Given the description of an element on the screen output the (x, y) to click on. 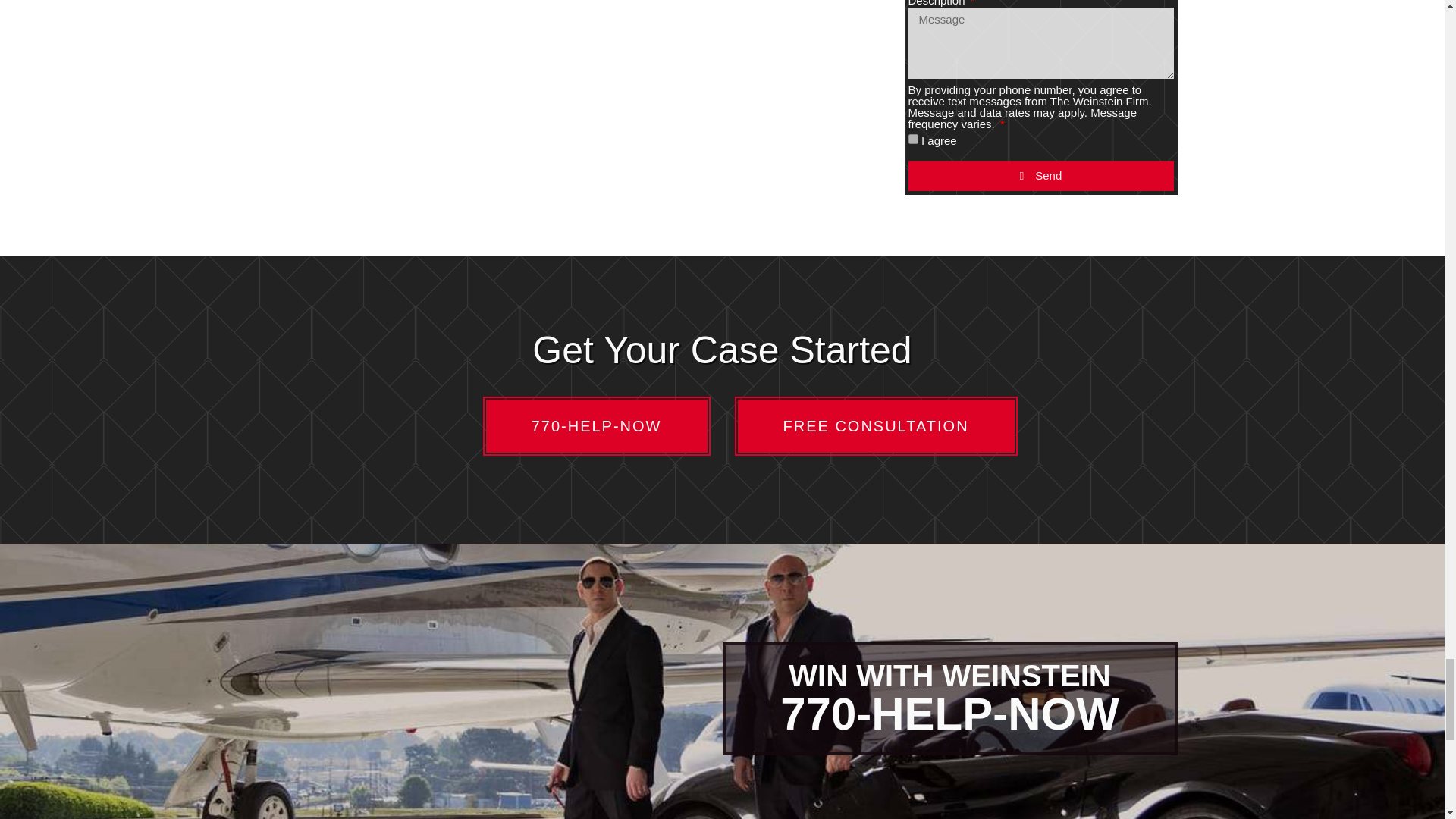
on (913, 139)
